Given the description of an element on the screen output the (x, y) to click on. 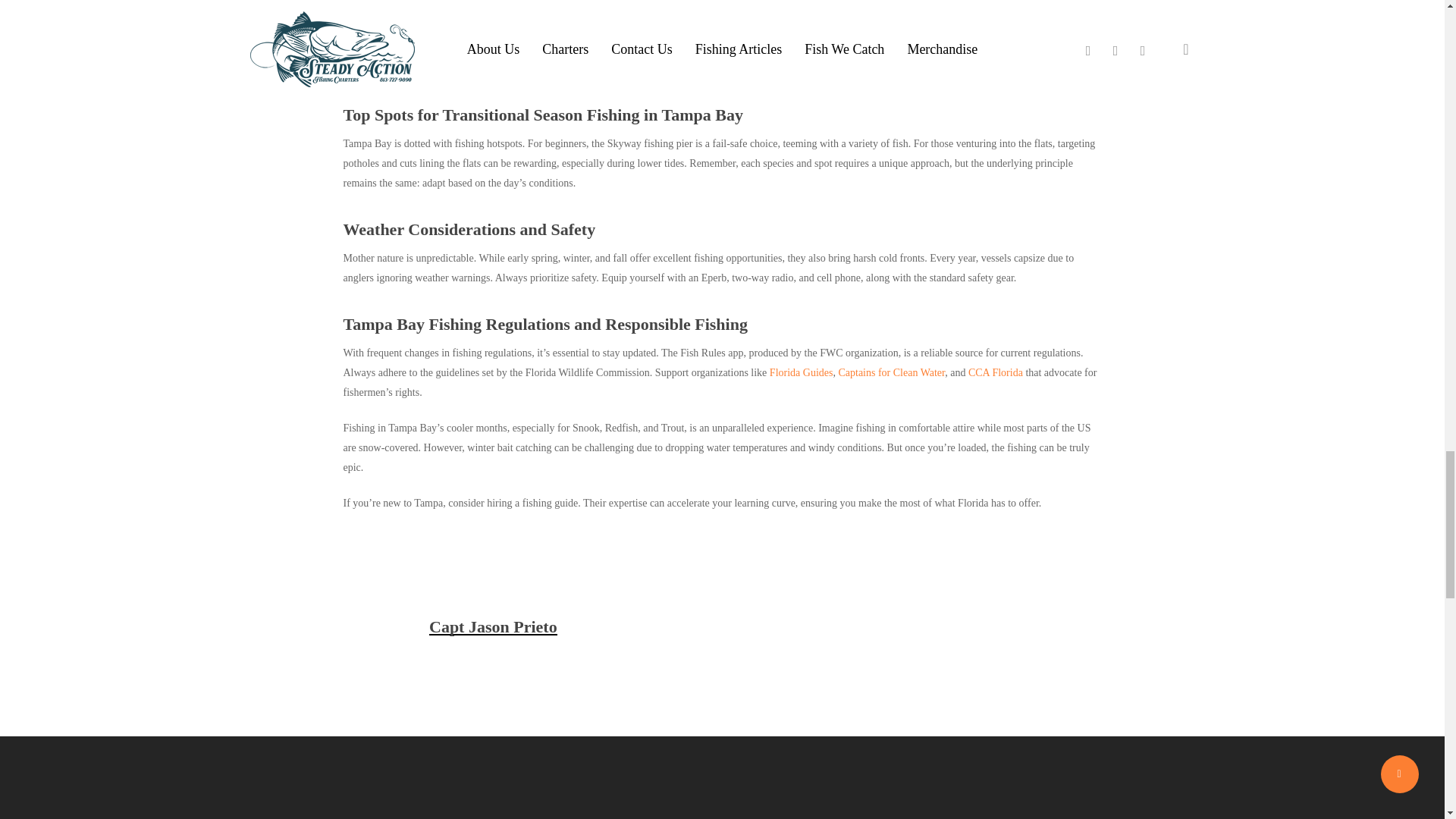
Captains for Clean Water (891, 372)
CCA Florida (995, 372)
Florida Guides (801, 372)
Capt Jason Prieto (493, 626)
